Given the description of an element on the screen output the (x, y) to click on. 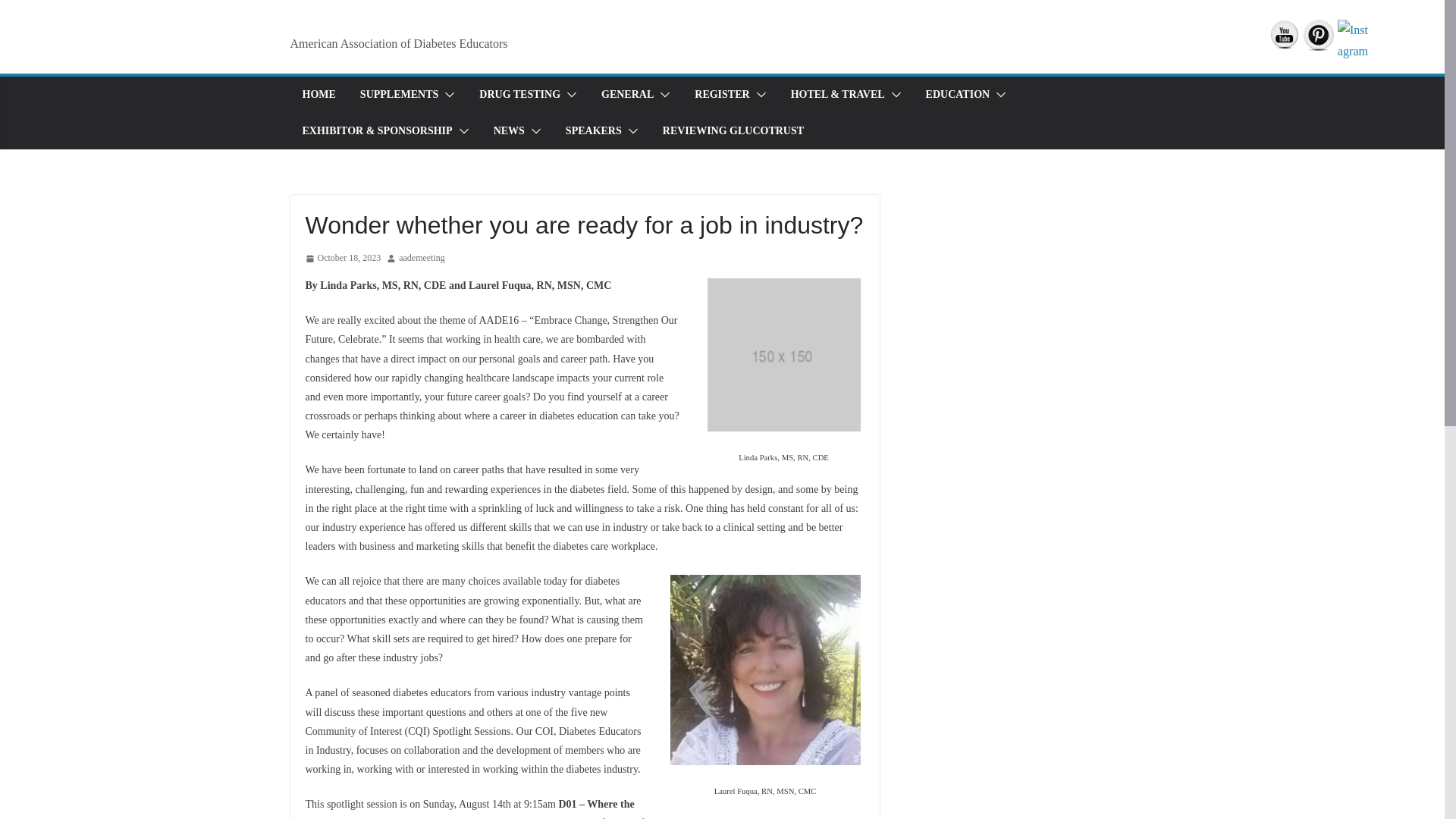
SUPPLEMENTS (398, 94)
aademeeting (421, 258)
Pinterest (1318, 34)
YouTube (1284, 34)
DRUG TESTING (519, 94)
EDUCATION (958, 94)
REGISTER (721, 94)
7:46 am (342, 258)
HOME (317, 94)
GENERAL (627, 94)
